Given the description of an element on the screen output the (x, y) to click on. 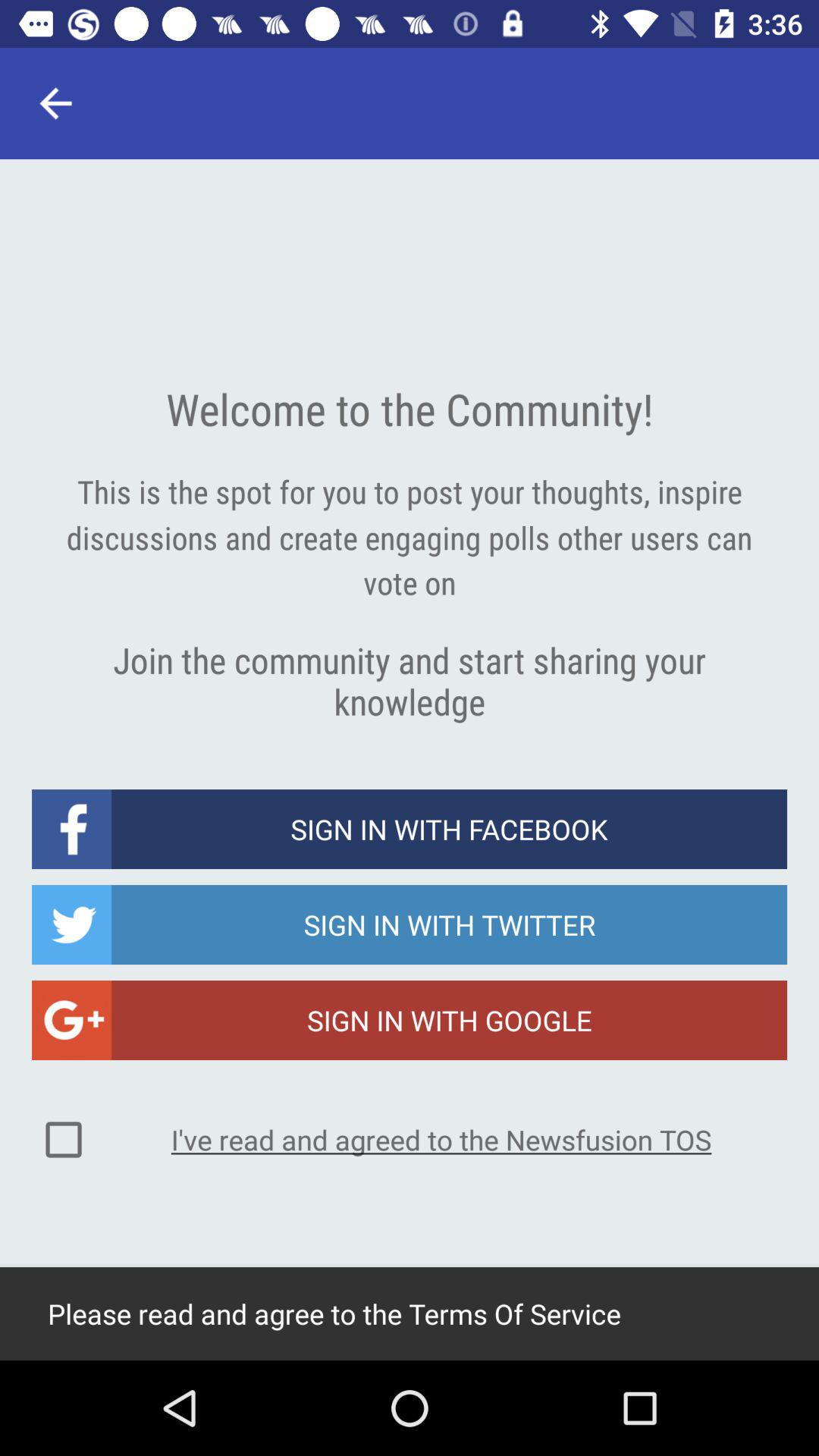
choose the icon to the left of the i ve read icon (63, 1139)
